Given the description of an element on the screen output the (x, y) to click on. 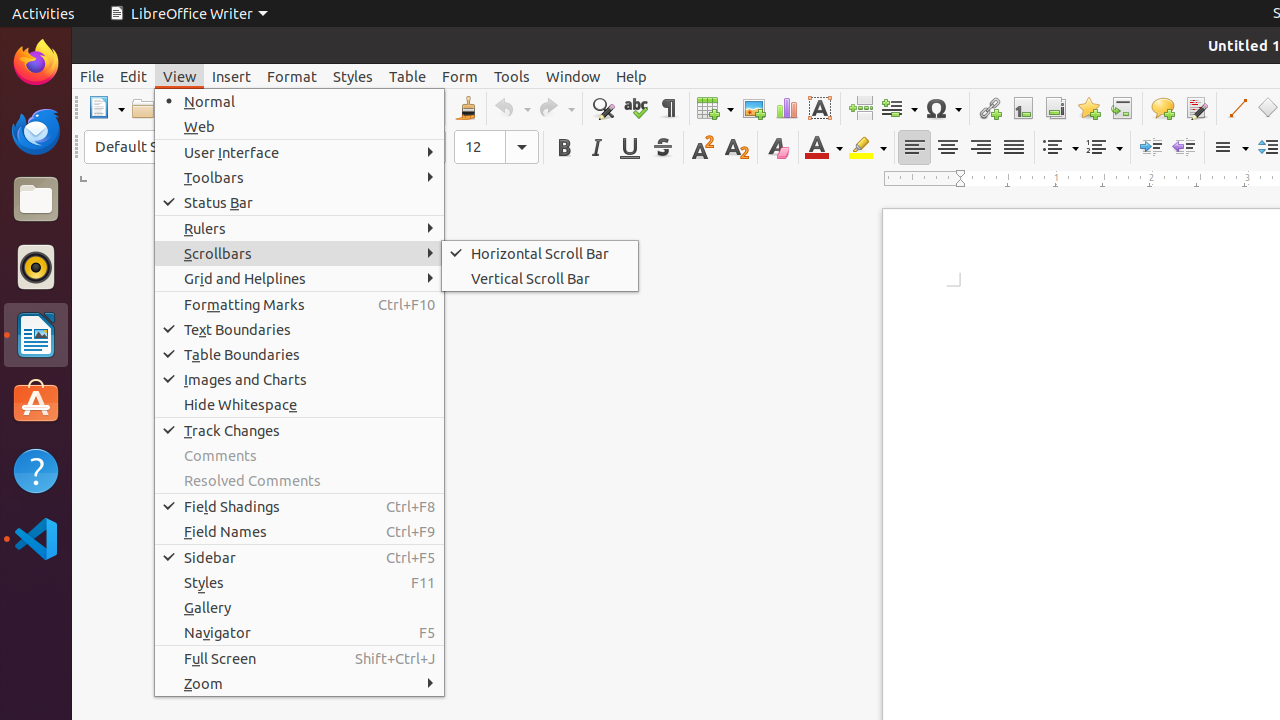
Line Element type: toggle-button (1236, 108)
Subscript Element type: toggle-button (736, 147)
Form Element type: menu (460, 76)
Justified Element type: toggle-button (1013, 147)
Edit Element type: menu (133, 76)
